Given the description of an element on the screen output the (x, y) to click on. 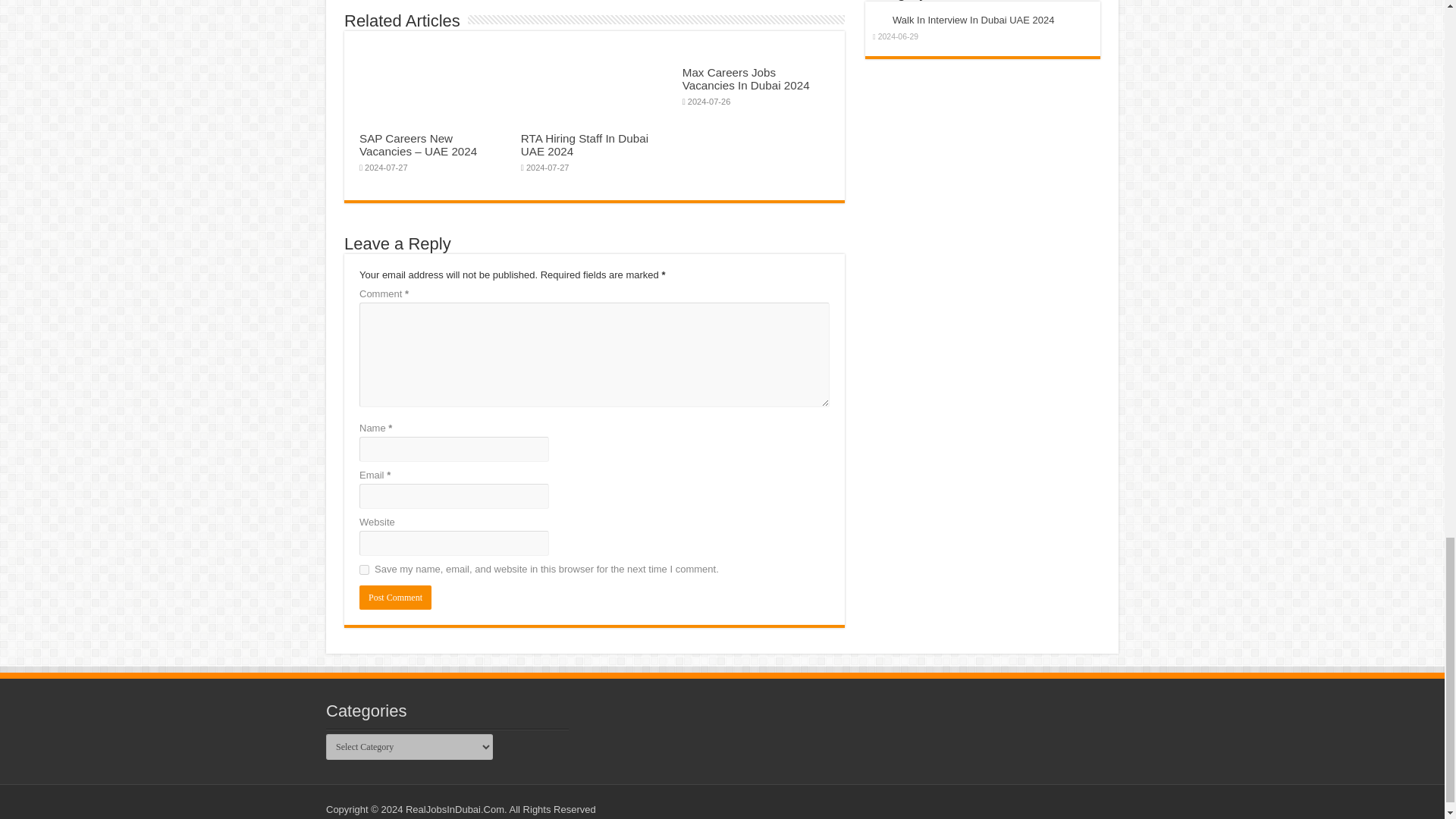
Max Careers Jobs Vacancies In Dubai 2024 (745, 78)
Post Comment (394, 597)
RTA Hiring Staff In Dubai UAE 2024 (584, 144)
Post Comment (394, 597)
yes (364, 569)
